Given the description of an element on the screen output the (x, y) to click on. 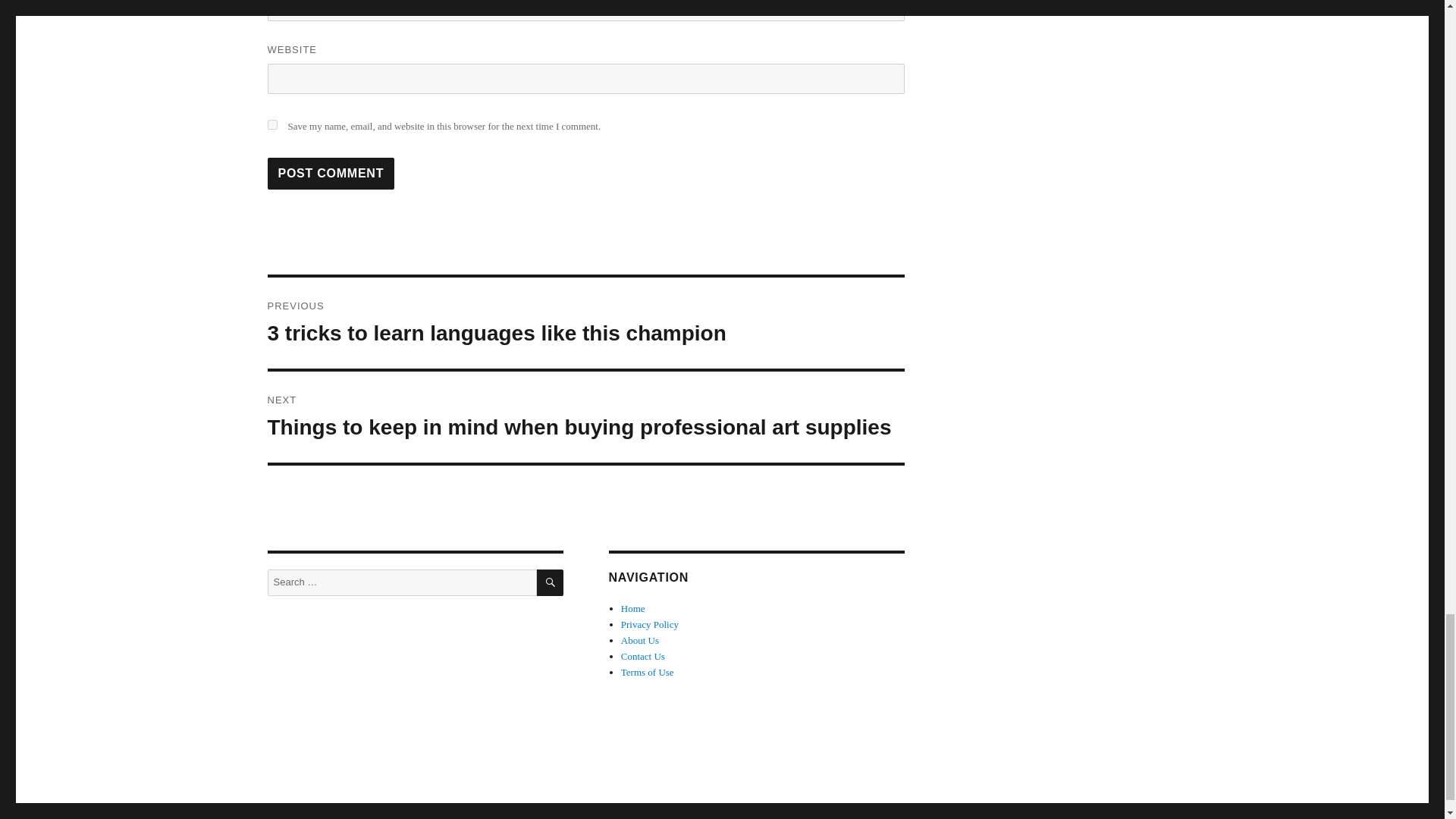
Privacy Policy (649, 624)
Post Comment (330, 173)
Post Comment (330, 173)
Terms of Use (647, 672)
About Us (640, 640)
Home (633, 608)
Contact Us (643, 655)
SEARCH (550, 582)
yes (271, 124)
